Given the description of an element on the screen output the (x, y) to click on. 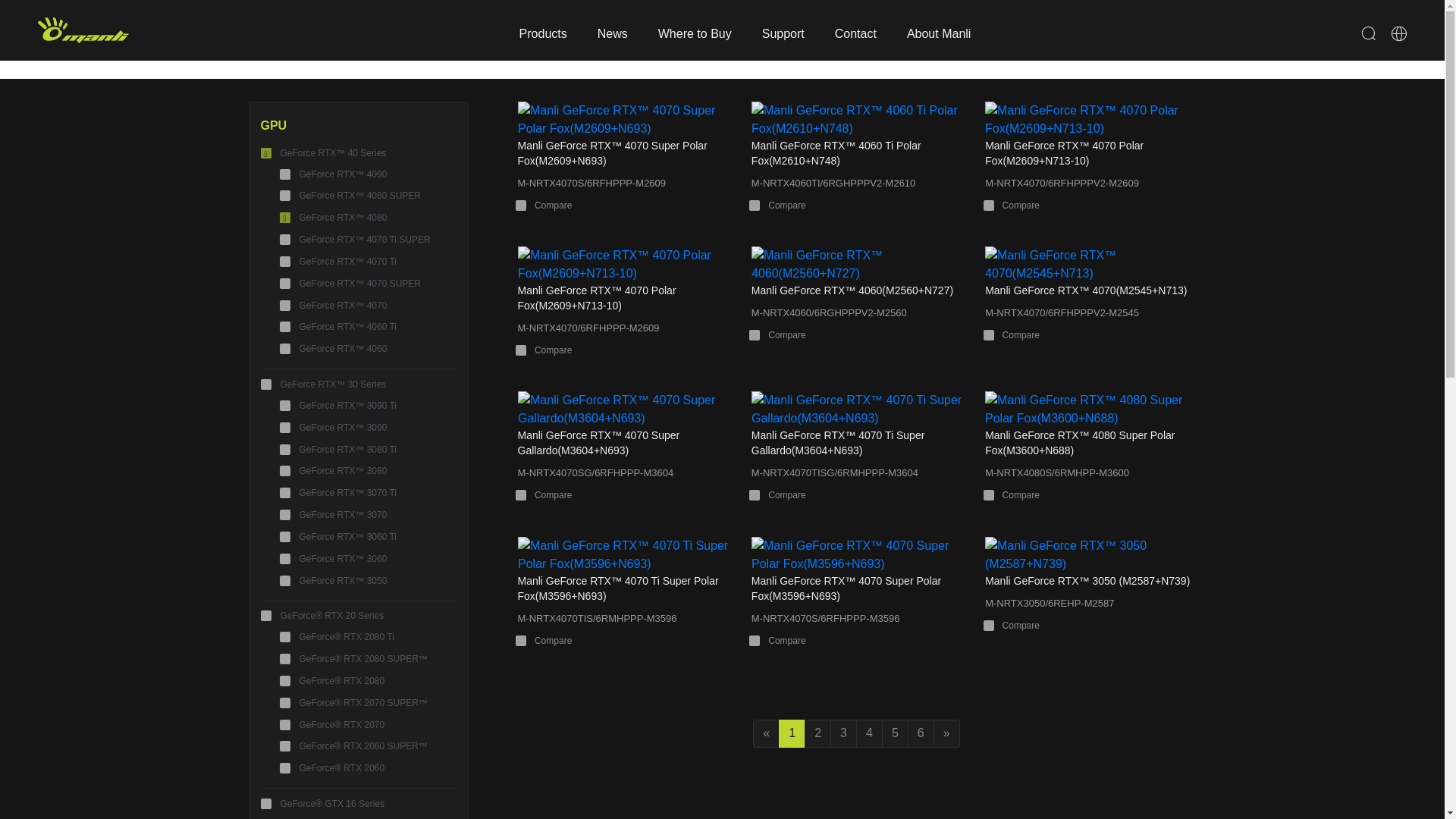
Products (542, 30)
